Given the description of an element on the screen output the (x, y) to click on. 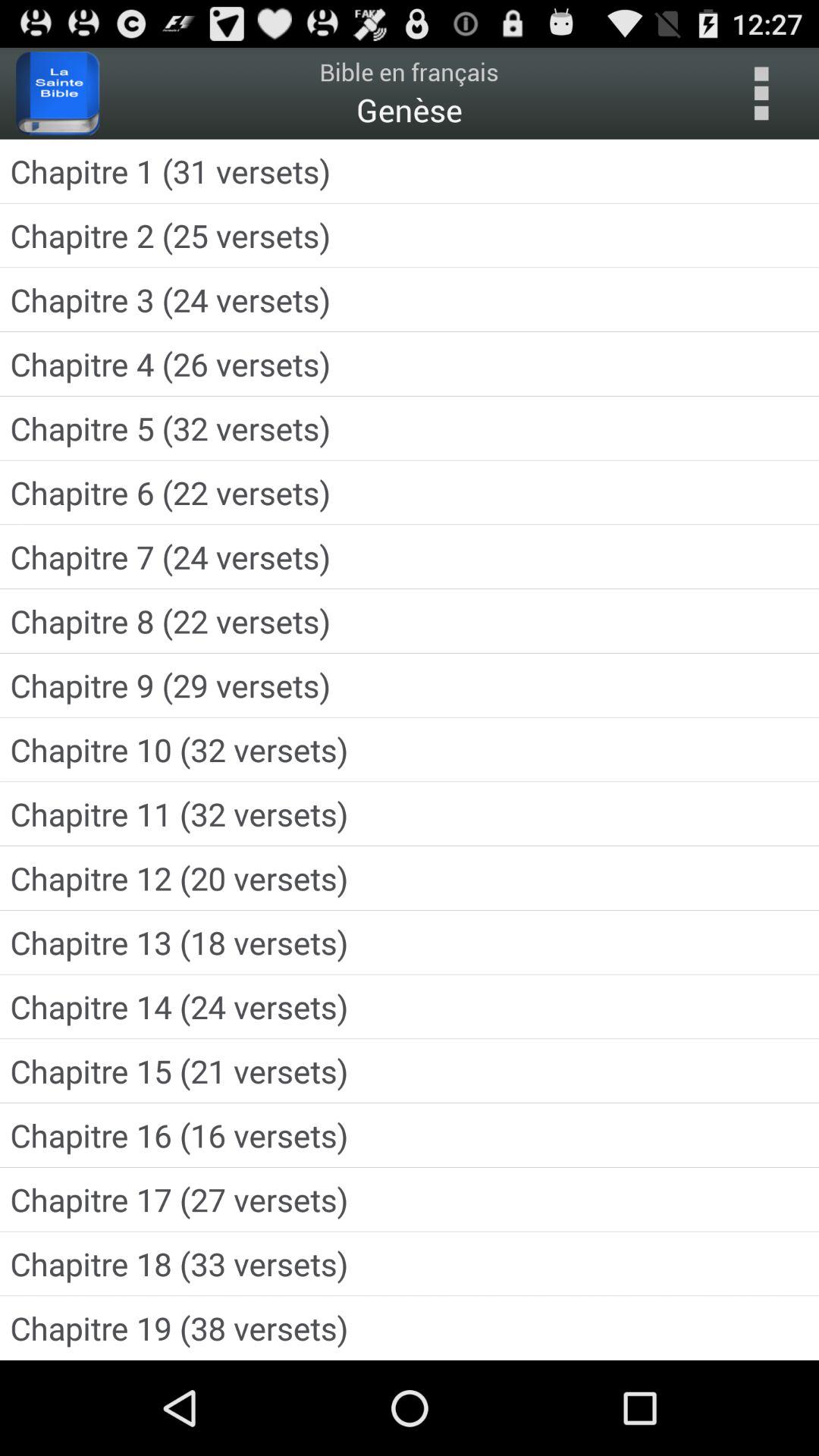
click chapitre 12 20 item (409, 877)
